Given the description of an element on the screen output the (x, y) to click on. 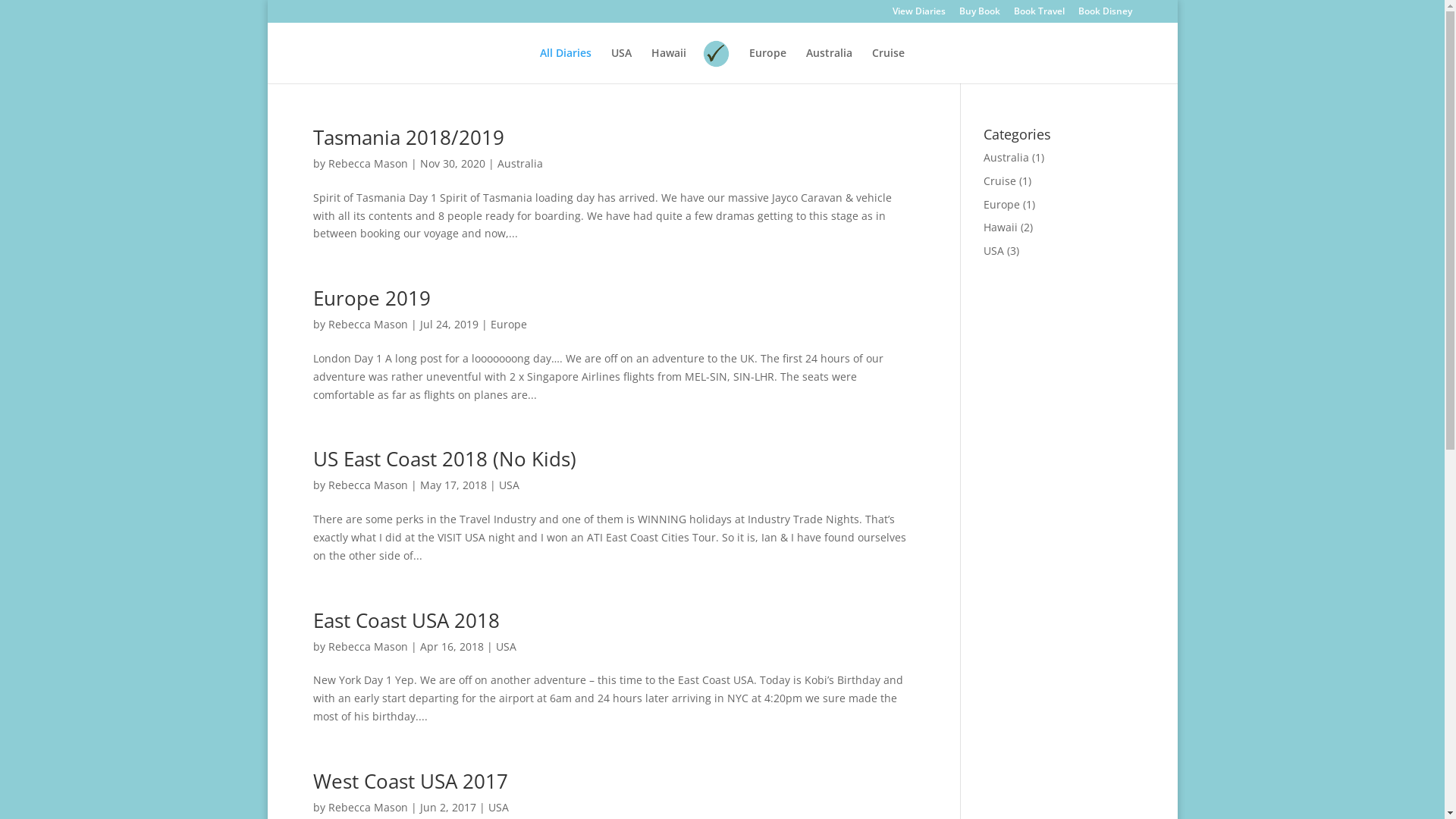
Rebecca Mason Element type: text (367, 646)
Australia Element type: text (1006, 157)
USA Element type: text (993, 250)
Buy Book Element type: text (978, 14)
Rebecca Mason Element type: text (367, 323)
Europe Element type: text (507, 323)
Cruise Element type: text (888, 65)
Hawaii Element type: text (1000, 226)
Rebecca Mason Element type: text (367, 807)
Australia Element type: text (829, 65)
View Diaries Element type: text (917, 14)
Rebecca Mason Element type: text (367, 484)
Australia Element type: text (519, 163)
East Coast USA 2018 Element type: text (405, 619)
All Diaries Element type: text (565, 65)
US East Coast 2018 (No Kids) Element type: text (443, 458)
Tasmania 2018/2019 Element type: text (407, 136)
USA Element type: text (505, 646)
Hawaii Element type: text (668, 65)
Rebecca Mason Element type: text (367, 163)
Book Travel Element type: text (1038, 14)
USA Element type: text (508, 484)
USA Element type: text (498, 807)
Book Disney Element type: text (1105, 14)
Cruise Element type: text (999, 180)
Europe Element type: text (1001, 204)
Europe Element type: text (767, 65)
Europe 2019 Element type: text (370, 297)
USA Element type: text (621, 65)
West Coast USA 2017 Element type: text (409, 780)
